Given the description of an element on the screen output the (x, y) to click on. 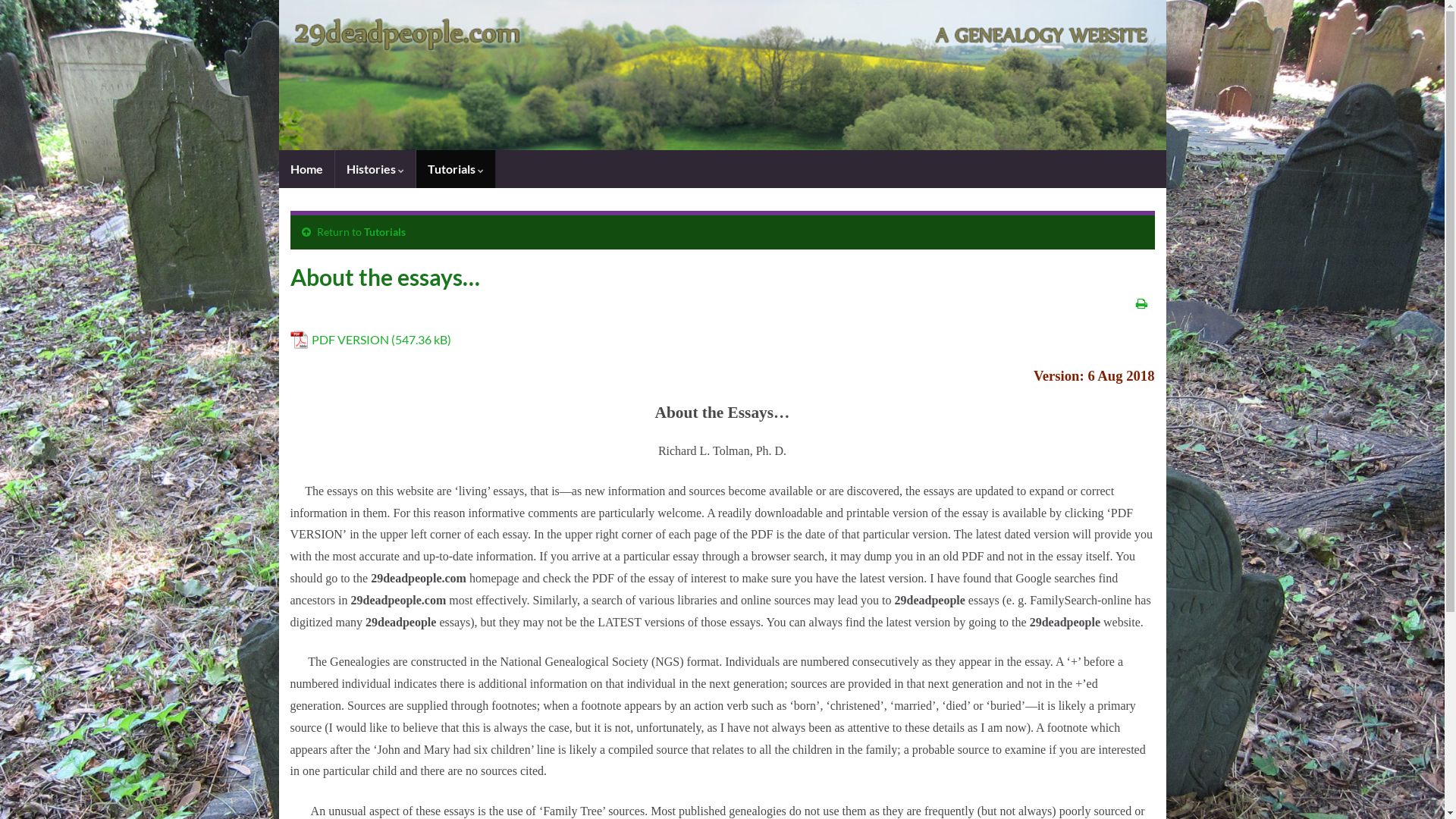
Home Element type: text (306, 169)
Histories Element type: text (375, 169)
Tutorials Element type: text (454, 169)
PDF VERSION Element type: text (369, 339)
Tutorials Element type: text (384, 231)
Print this page Element type: hover (1141, 302)
